Given the description of an element on the screen output the (x, y) to click on. 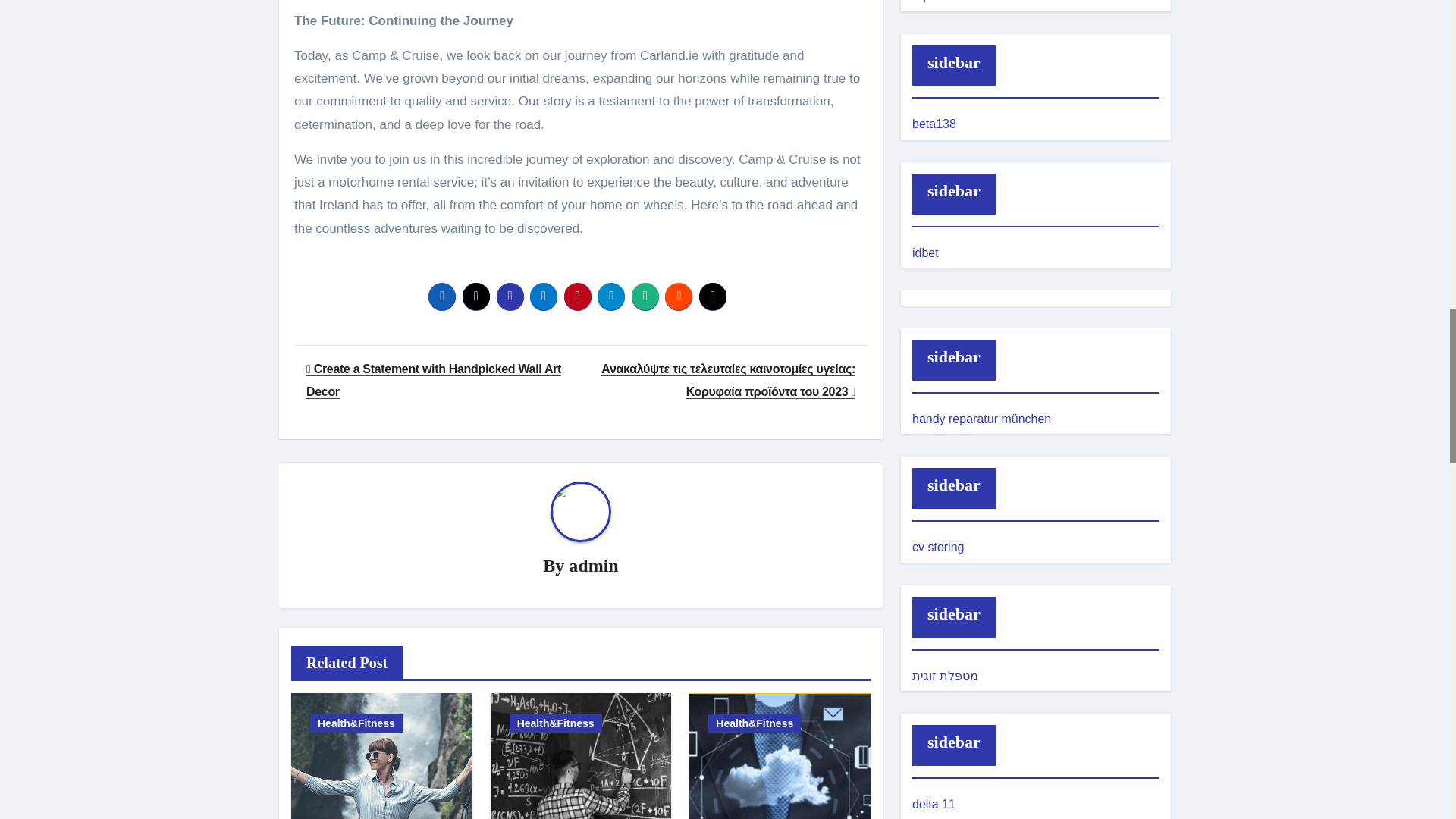
Create a Statement with Handpicked Wall Art Decor (432, 380)
